Given the description of an element on the screen output the (x, y) to click on. 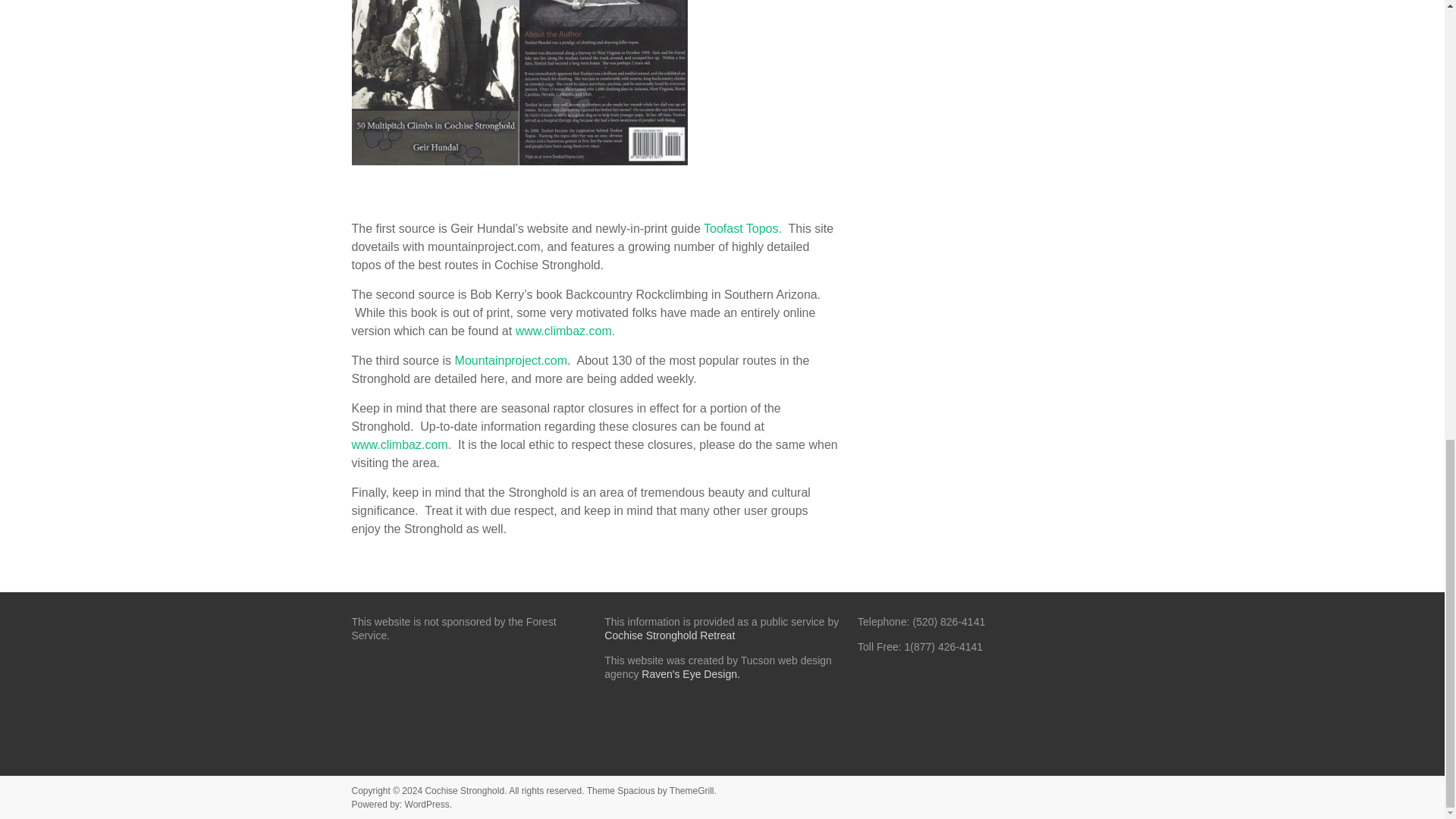
Cochise Stronghold (464, 790)
www.climbaz.com. (401, 444)
Spacious (635, 790)
Mountainproject.com (510, 359)
Spacious (635, 790)
Toofast Topos. (742, 228)
Raven's Eye Design. (690, 674)
WordPress (426, 804)
Cochise Stronghold Retreat (669, 635)
Cochise Stronghold (464, 790)
www.climbaz.com. (565, 330)
WordPress (426, 804)
